Given the description of an element on the screen output the (x, y) to click on. 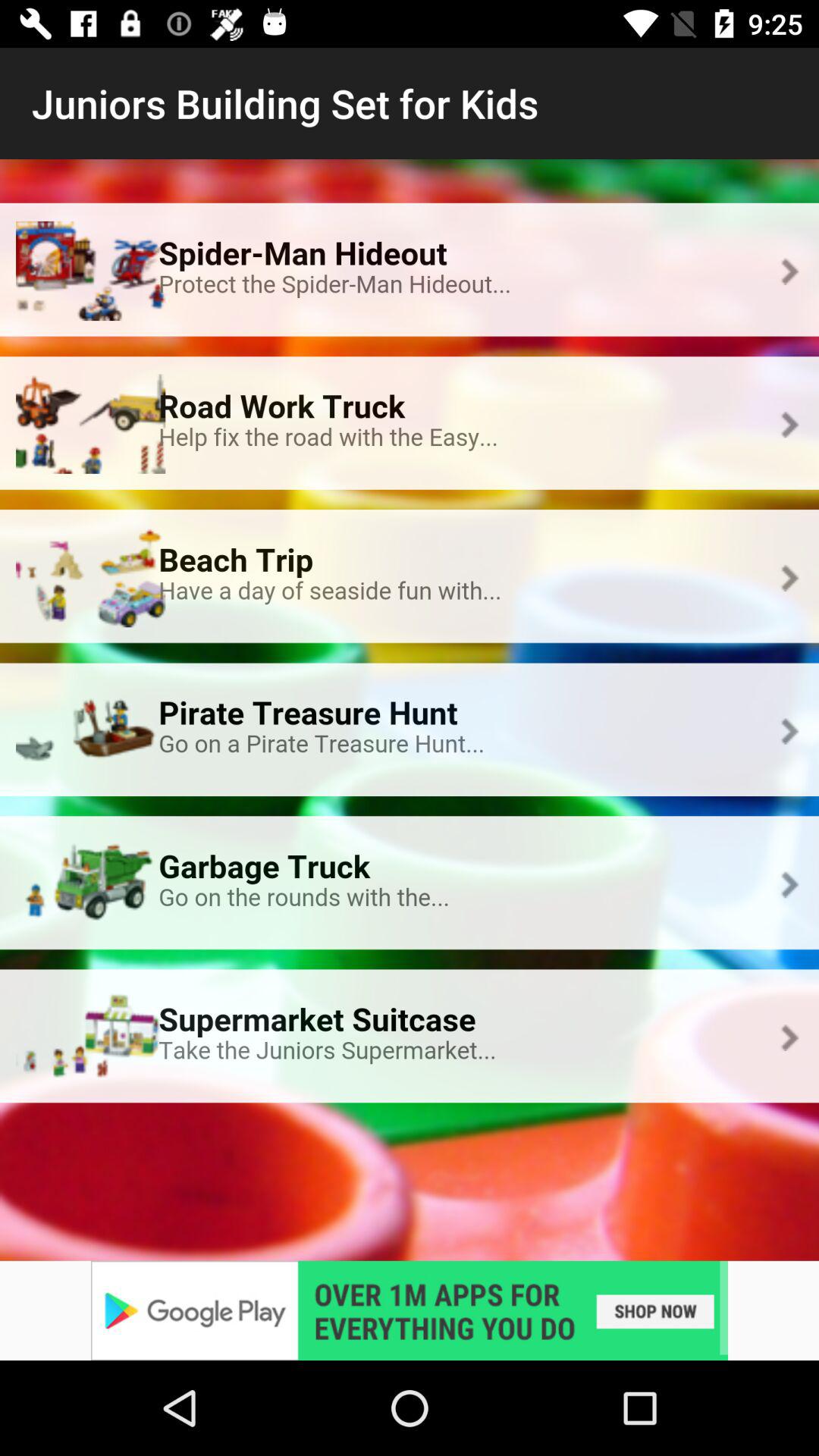
go to advertisement (409, 1310)
